Given the description of an element on the screen output the (x, y) to click on. 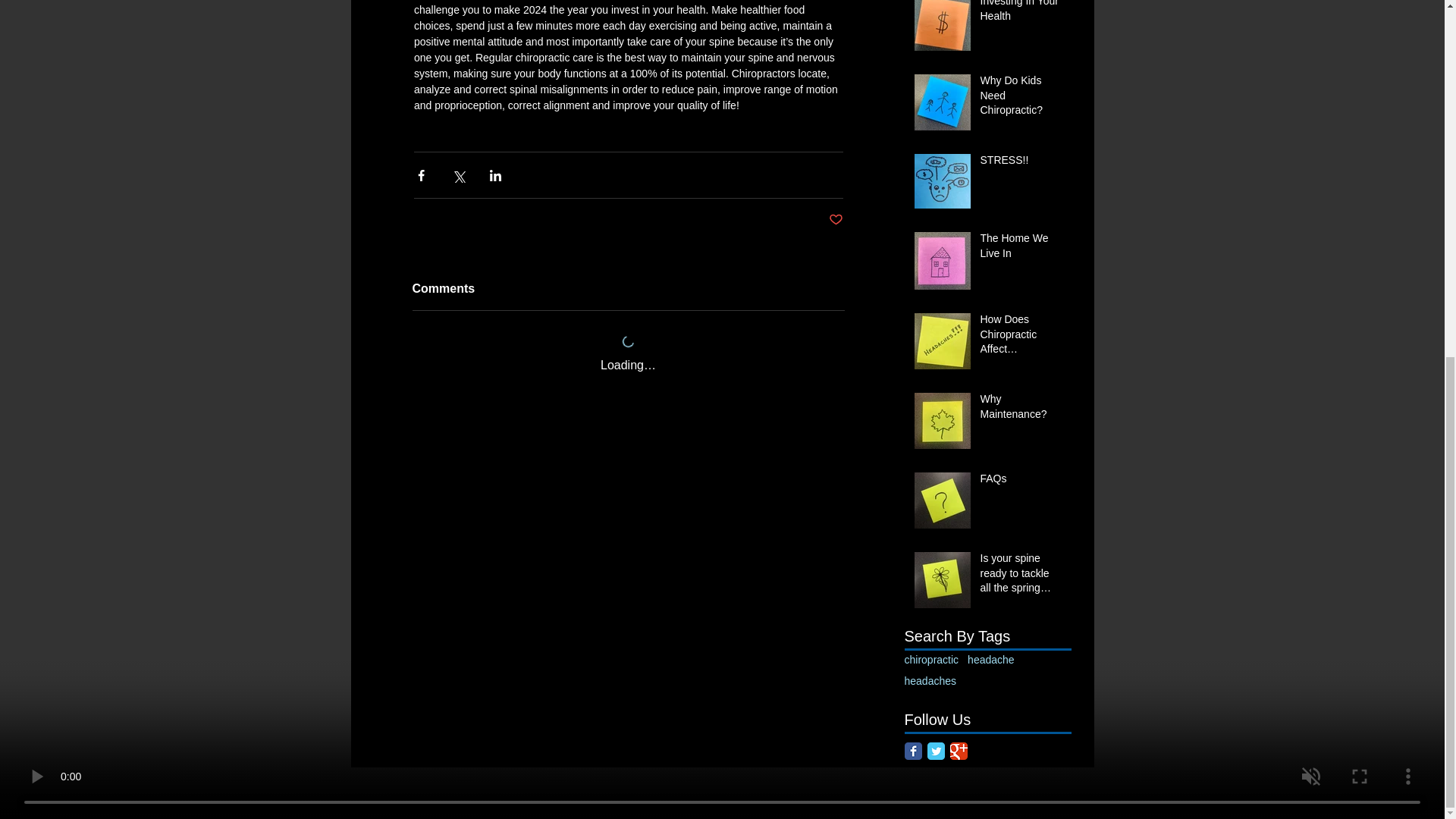
FAQs (1020, 482)
headache (991, 659)
Why Do Kids Need Chiropractic? (1020, 98)
chiropractic (931, 659)
Investing In Your Health (1020, 14)
Why Maintenance? (1020, 409)
Is your spine ready to tackle all the spring projects? (1020, 576)
headaches (930, 680)
The Home We Live In (1020, 248)
How Does Chiropractic Affect Headaches? (1020, 337)
